Given the description of an element on the screen output the (x, y) to click on. 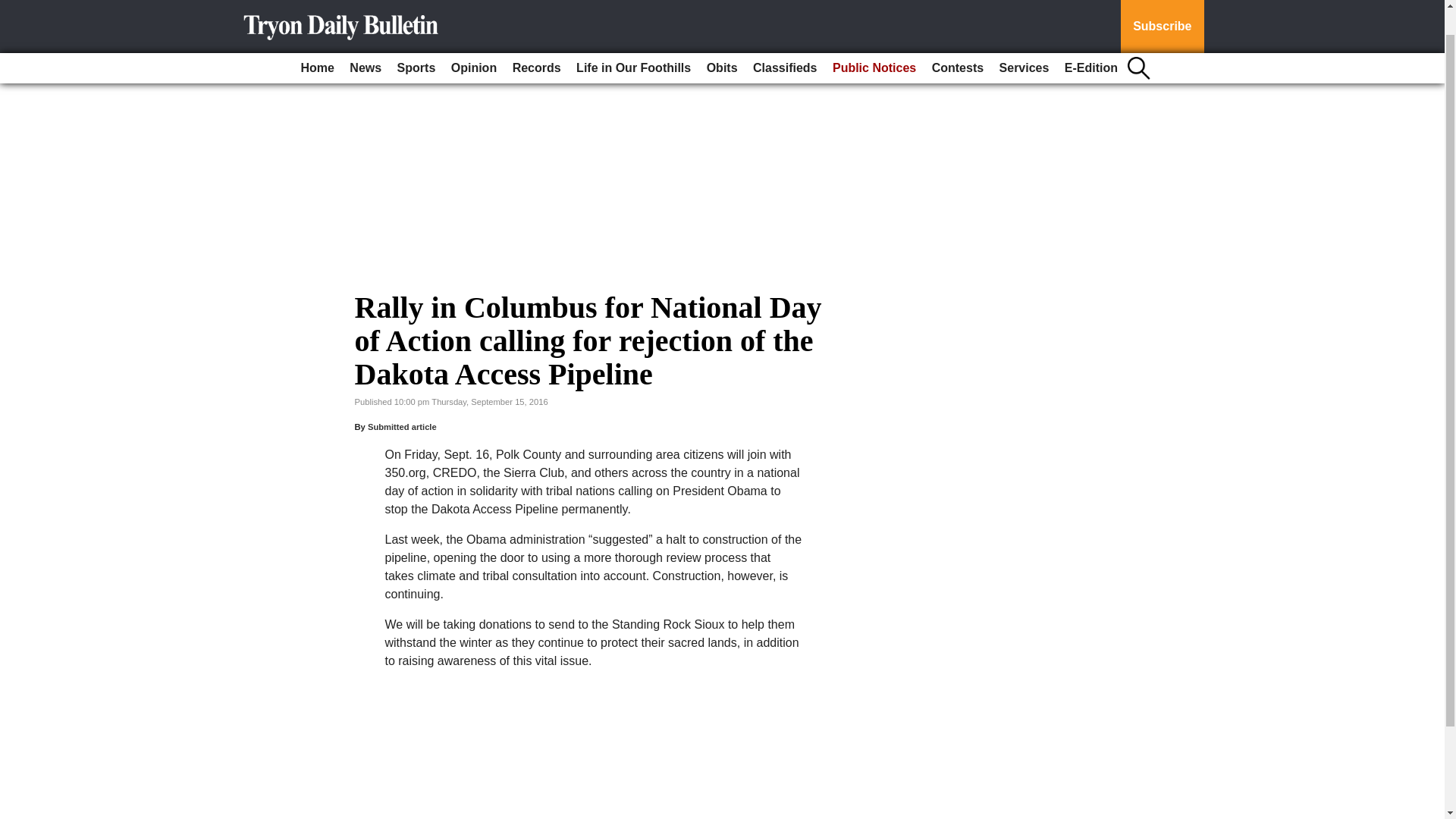
Classifieds (784, 40)
News (365, 40)
Obits (722, 40)
Records (536, 40)
Home (316, 40)
Sports (416, 40)
Public Notices (874, 40)
Opinion (473, 40)
Life in Our Foothills (633, 40)
Subscribe (1162, 12)
Submitted article (402, 426)
Contests (958, 40)
E-Edition (1091, 40)
Services (1023, 40)
